Given the description of an element on the screen output the (x, y) to click on. 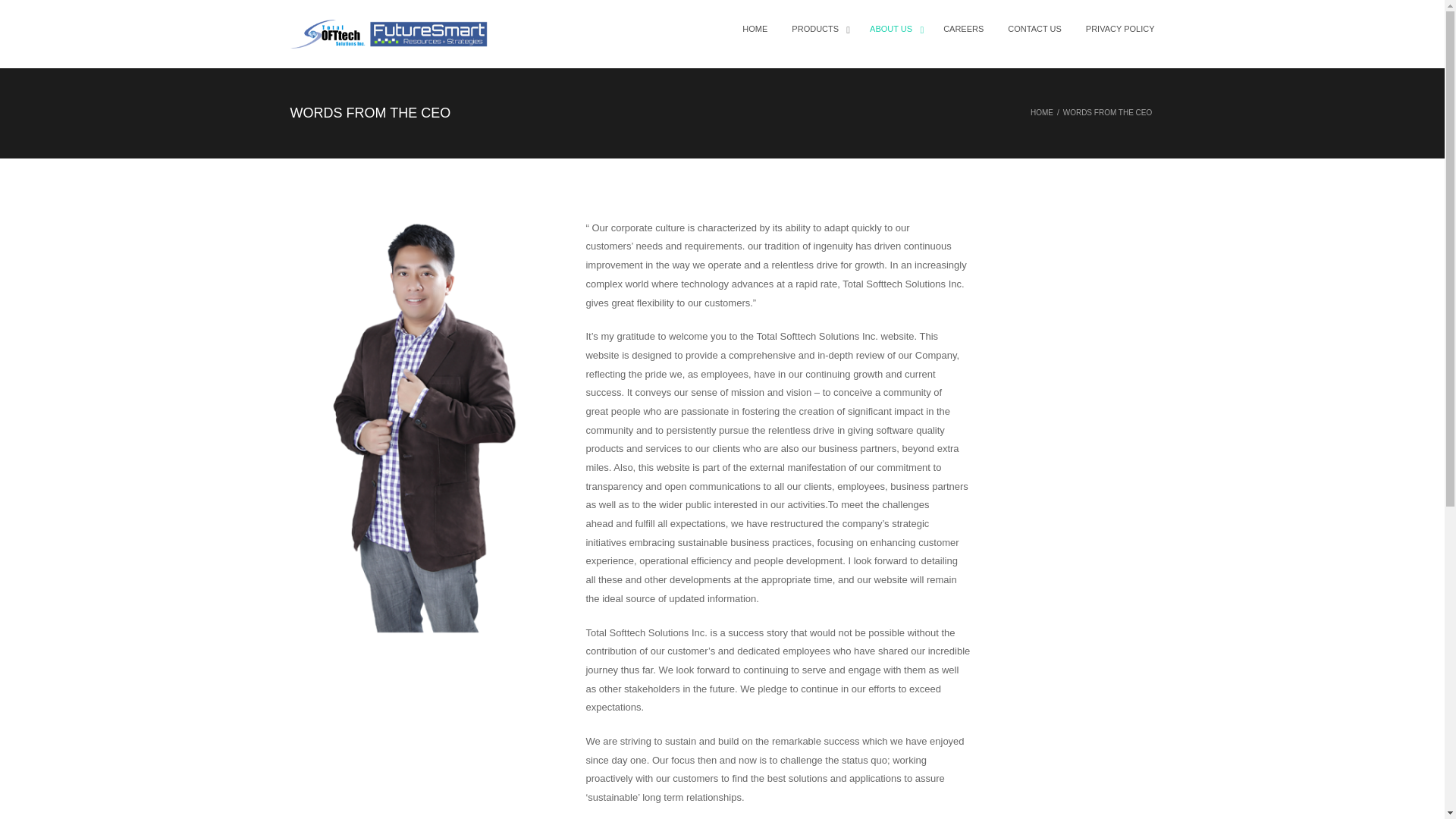
HOME (1041, 112)
Management Set Up (334, 660)
ABOUT US (894, 29)
About Us (894, 29)
PRODUCTS (817, 29)
CONTACT US (1034, 29)
Management Team (331, 634)
CAREERS (963, 29)
Careers (306, 608)
PRIVACY POLICY (1114, 29)
